Given the description of an element on the screen output the (x, y) to click on. 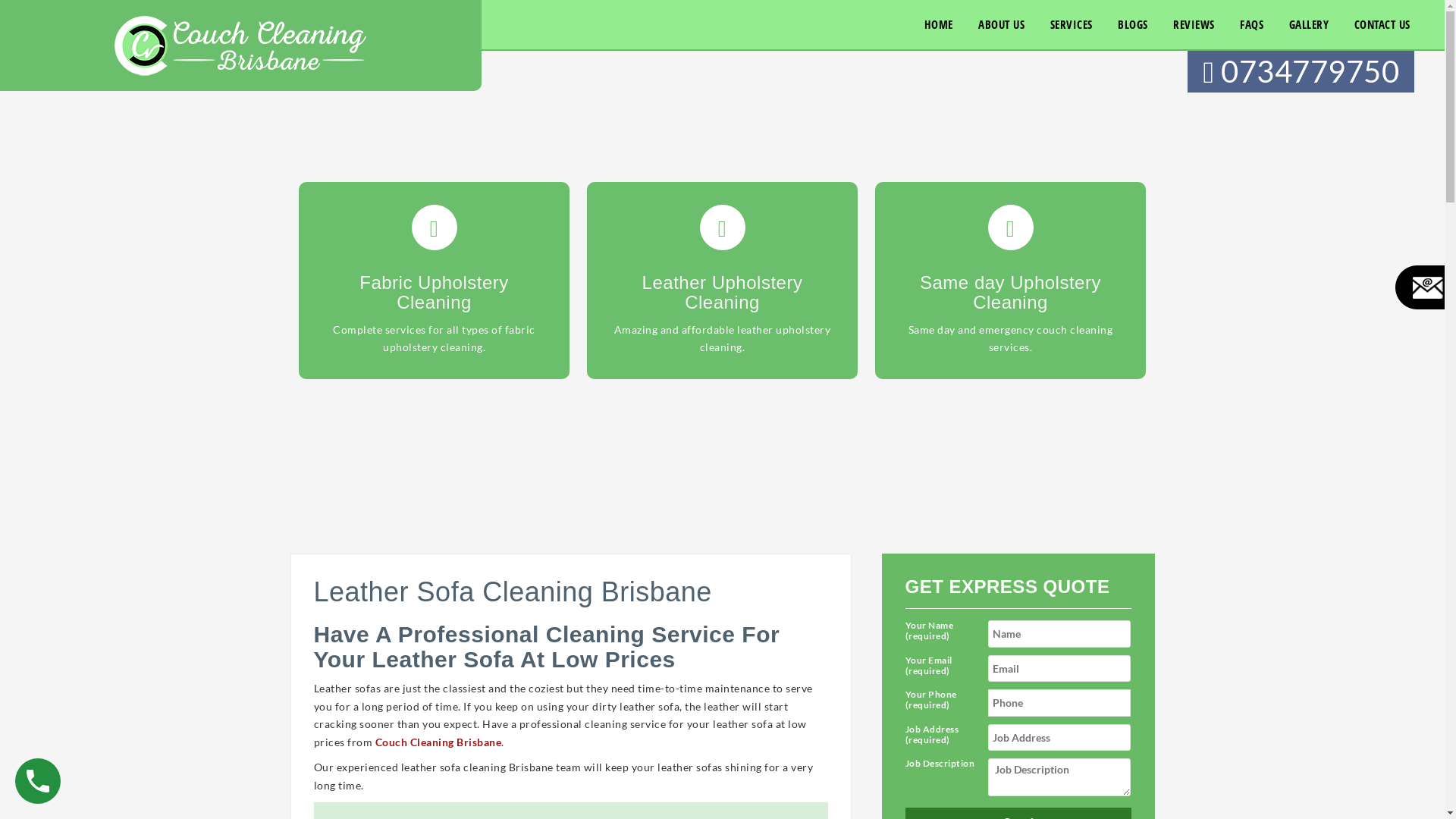
REVIEWS Element type: text (1193, 24)
ABOUT US Element type: text (1000, 24)
Couch Cleaning Brisbane Element type: text (437, 741)
0734779750 Element type: text (1300, 71)
HOME Element type: text (938, 24)
BLOGS Element type: text (1132, 24)
SERVICES Element type: text (1071, 24)
Couch Cleaning Brisbane Element type: hover (240, 43)
GALLERY Element type: text (1308, 24)
FAQS Element type: text (1251, 24)
Search Element type: text (722, 15)
CONTACT US Element type: text (1382, 24)
